Given the description of an element on the screen output the (x, y) to click on. 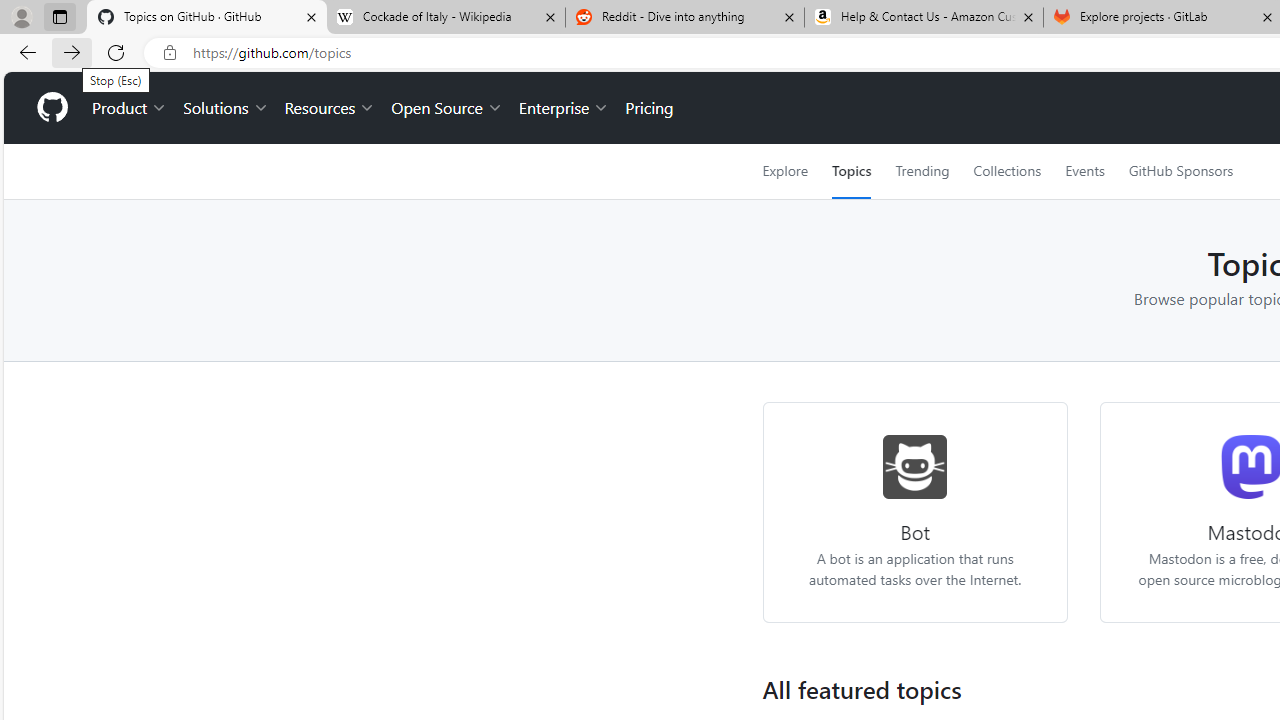
Enterprise (563, 107)
